Given the description of an element on the screen output the (x, y) to click on. 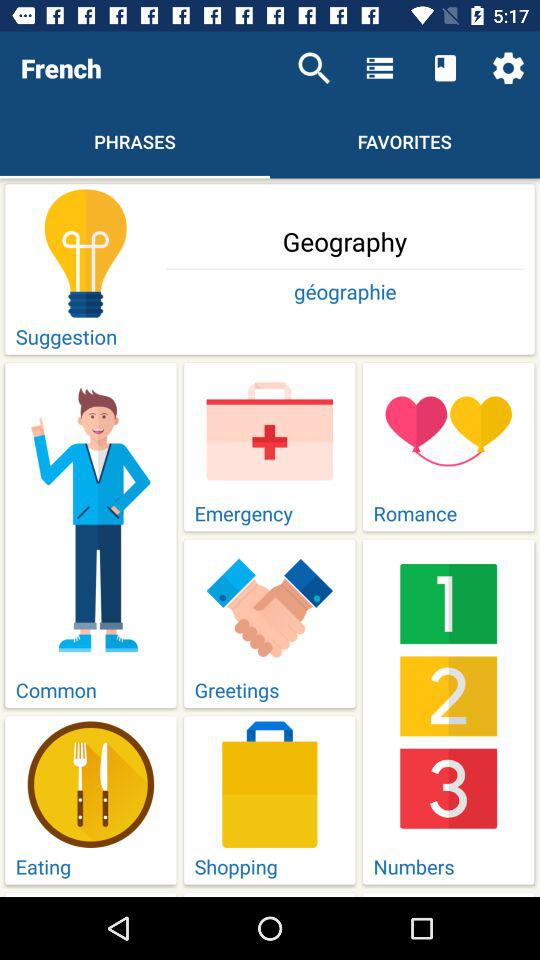
turn off icon above the geography icon (508, 67)
